Given the description of an element on the screen output the (x, y) to click on. 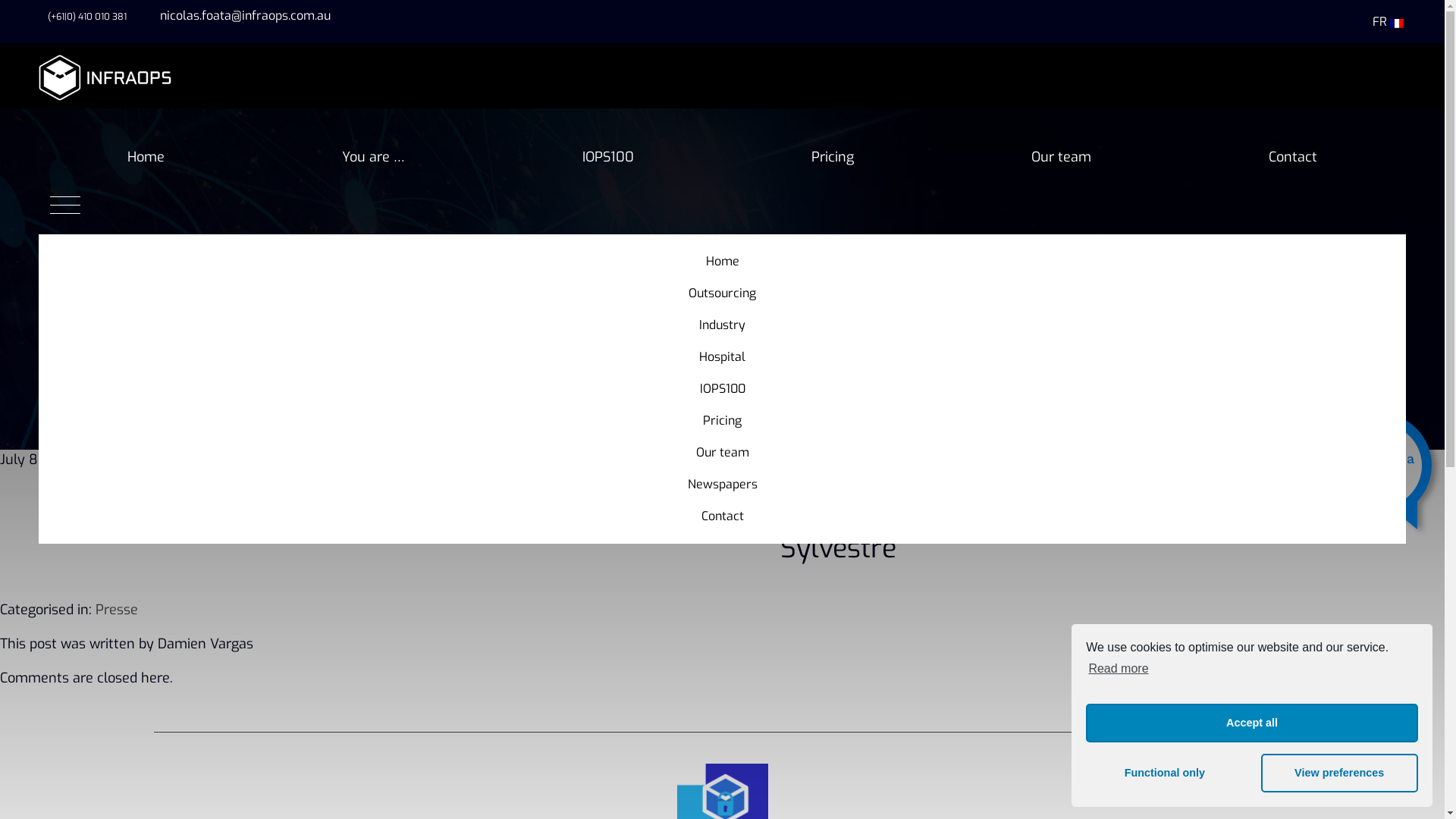
Request a demo Element type: text (1383, 472)
Newspapers Element type: text (722, 484)
Pricing Element type: text (832, 156)
Our team Element type: text (722, 452)
Hospital Element type: text (722, 357)
Accept all Element type: text (1251, 722)
Outsourcing Element type: text (722, 293)
Home Element type: text (145, 156)
Contact Element type: text (1292, 156)
FR  Element type: text (1387, 21)
Presse Element type: text (116, 609)
Our team Element type: text (1060, 156)
IOPS100 Element type: text (722, 388)
Home Element type: text (722, 261)
Contact Element type: text (722, 516)
View preferences Element type: text (1339, 772)
Pricing Element type: text (722, 420)
Read more Element type: text (1116, 667)
Damien Vargas Element type: text (276, 459)
IOPS100 Element type: text (607, 156)
Functional only Element type: text (1163, 772)
nicolas.foata@infraops.com.au Element type: text (240, 15)
Industry Element type: text (722, 325)
